Given the description of an element on the screen output the (x, y) to click on. 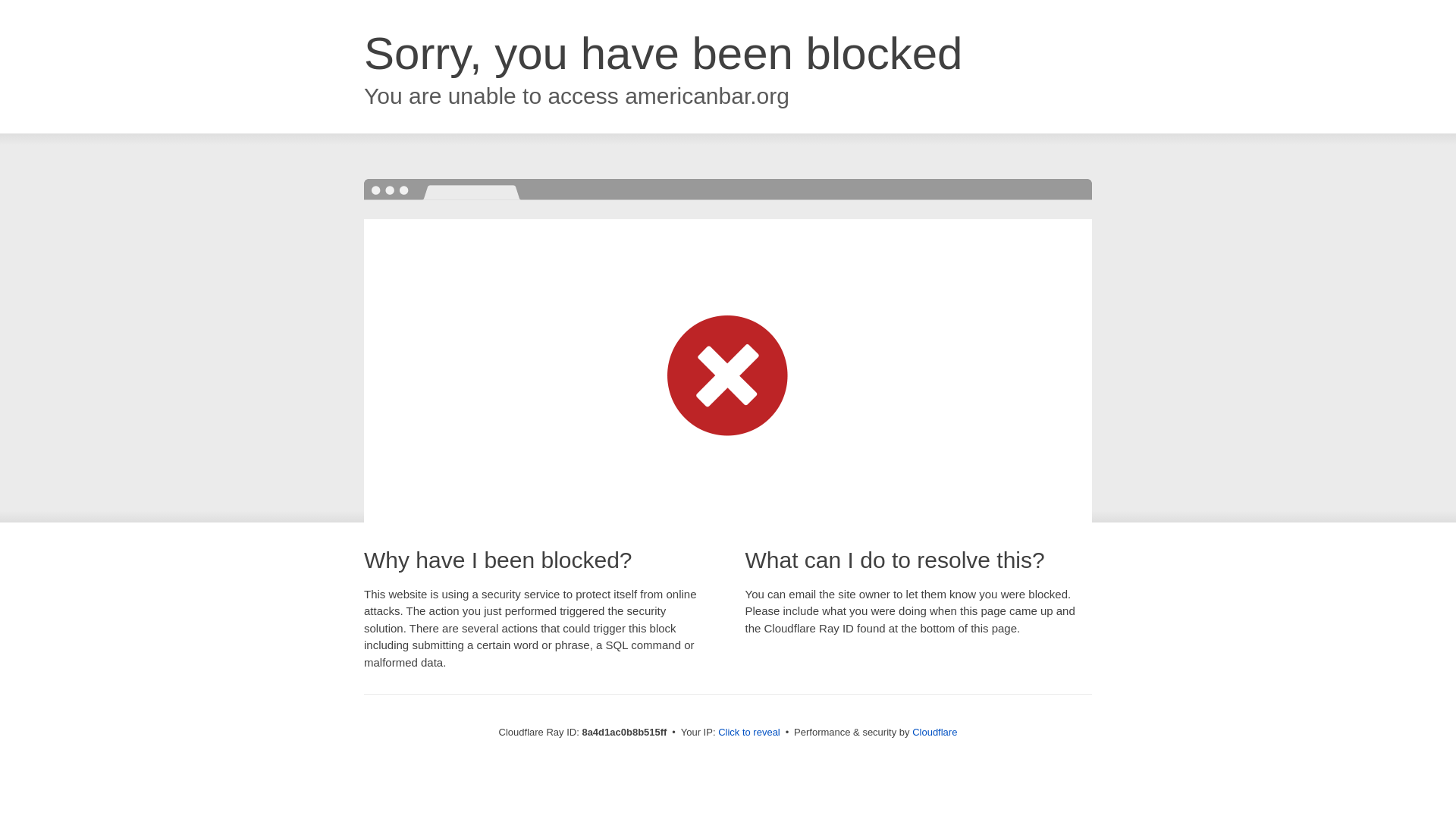
Click to reveal (748, 732)
Cloudflare (934, 731)
